Given the description of an element on the screen output the (x, y) to click on. 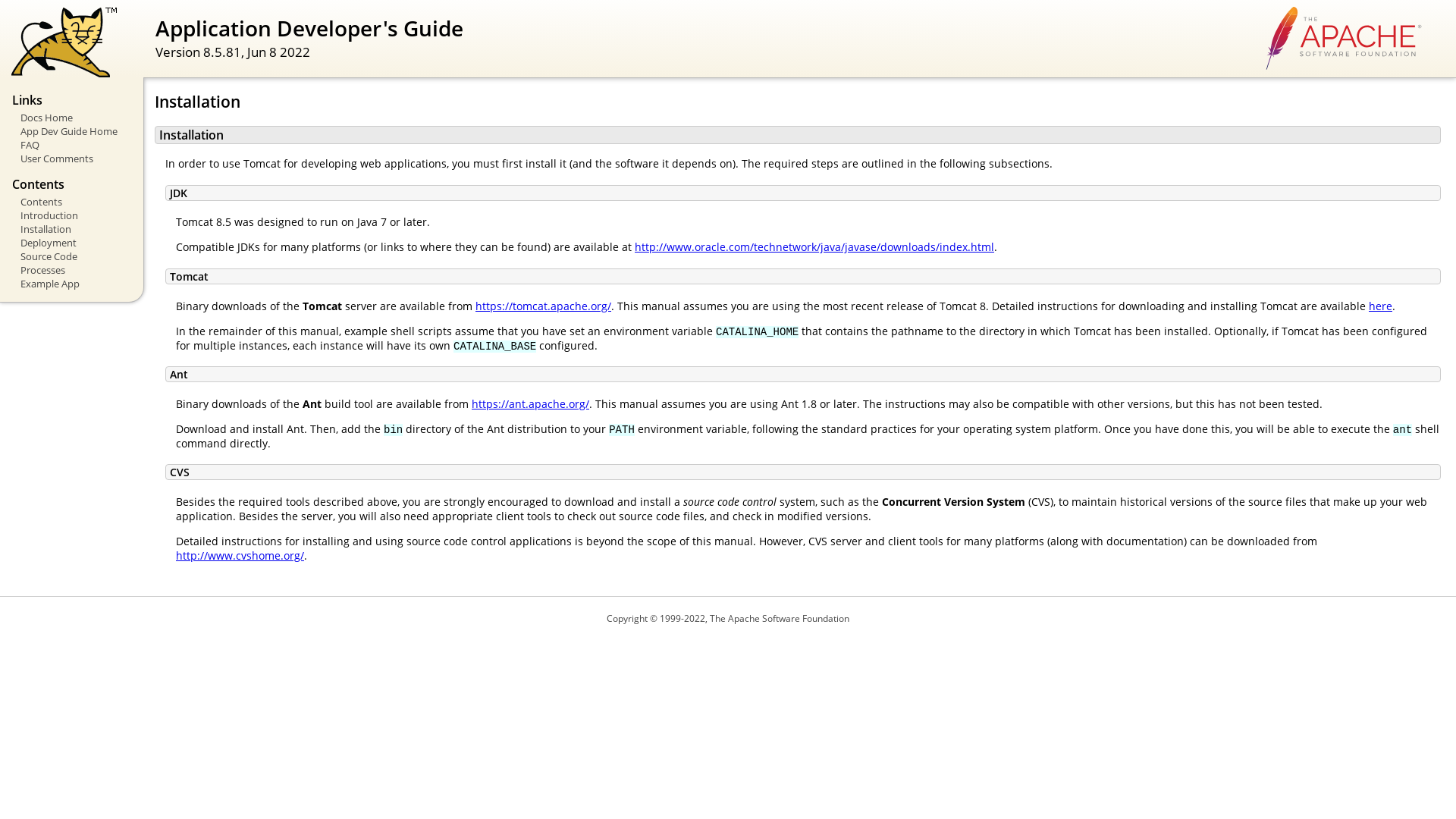
Installation Element type: text (72, 228)
Example App Element type: text (72, 283)
FAQ Element type: text (72, 144)
https://ant.apache.org/ Element type: text (530, 403)
Introduction Element type: text (72, 215)
https://tomcat.apache.org/ Element type: text (543, 305)
Source Code Element type: text (72, 256)
Deployment Element type: text (72, 242)
http://www.cvshome.org/ Element type: text (239, 555)
Docs Home Element type: text (72, 117)
here Element type: text (1380, 305)
Contents Element type: text (72, 201)
Processes Element type: text (72, 269)
App Dev Guide Home Element type: text (72, 131)
User Comments Element type: text (72, 158)
